Given the description of an element on the screen output the (x, y) to click on. 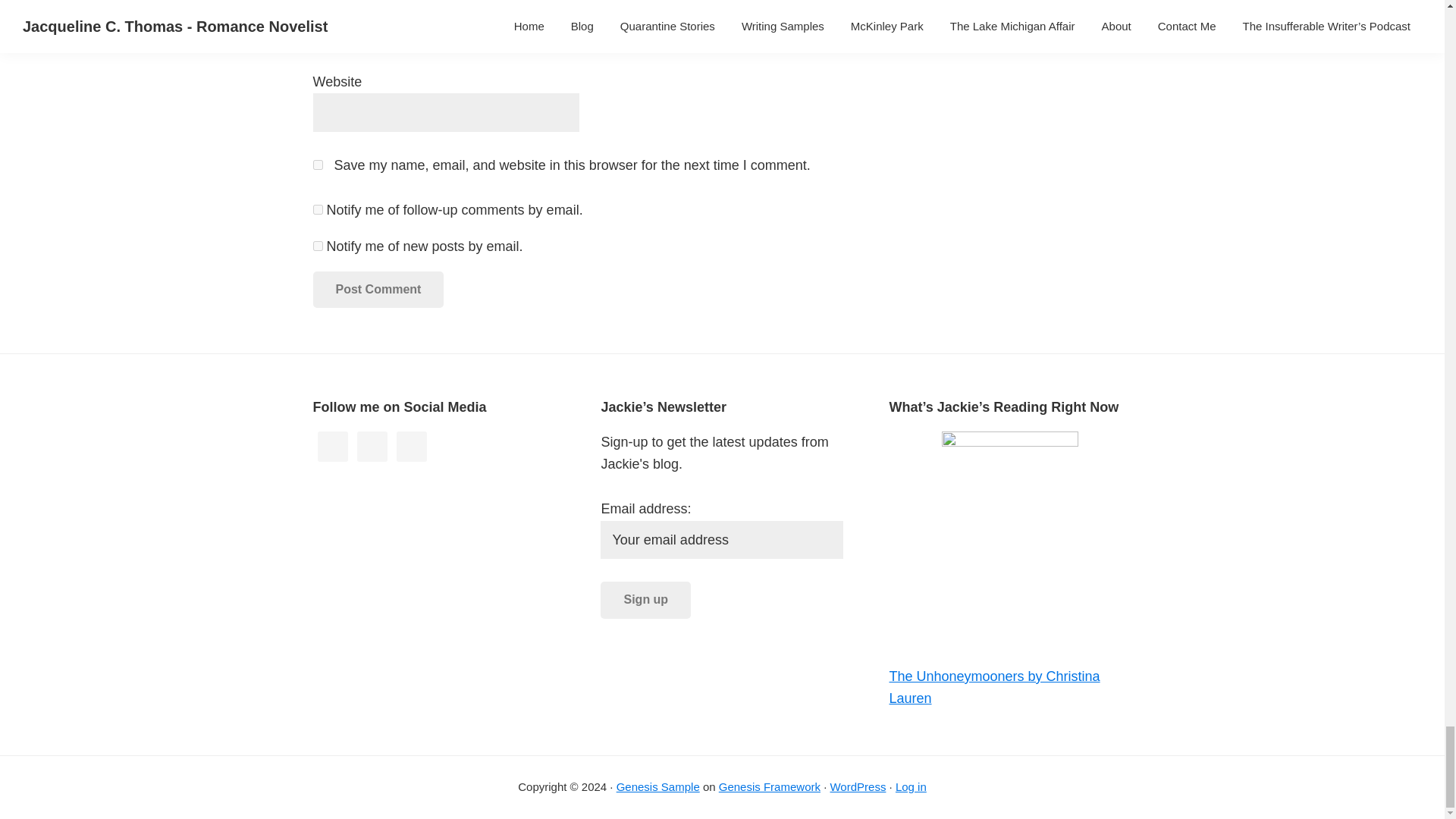
yes (317, 164)
subscribe (317, 245)
subscribe (317, 209)
Post Comment (378, 289)
Sign up (644, 599)
